Given the description of an element on the screen output the (x, y) to click on. 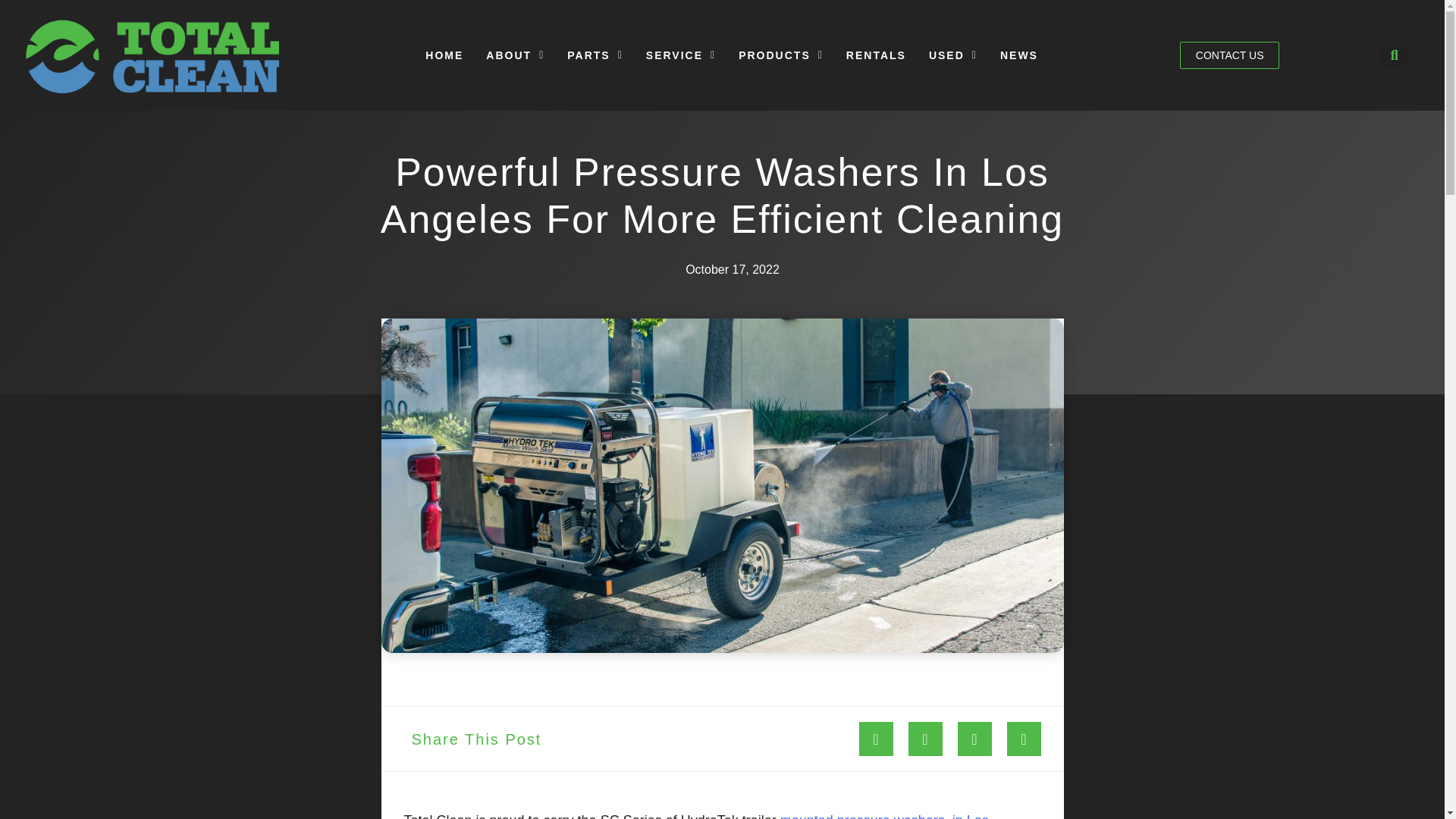
PRODUCTS (780, 55)
USED (952, 55)
HOME (443, 55)
PARTS (595, 55)
ABOUT (515, 55)
CONTACT US (1229, 54)
SERVICE (680, 55)
RENTALS (875, 55)
NEWS (1018, 55)
